Given the description of an element on the screen output the (x, y) to click on. 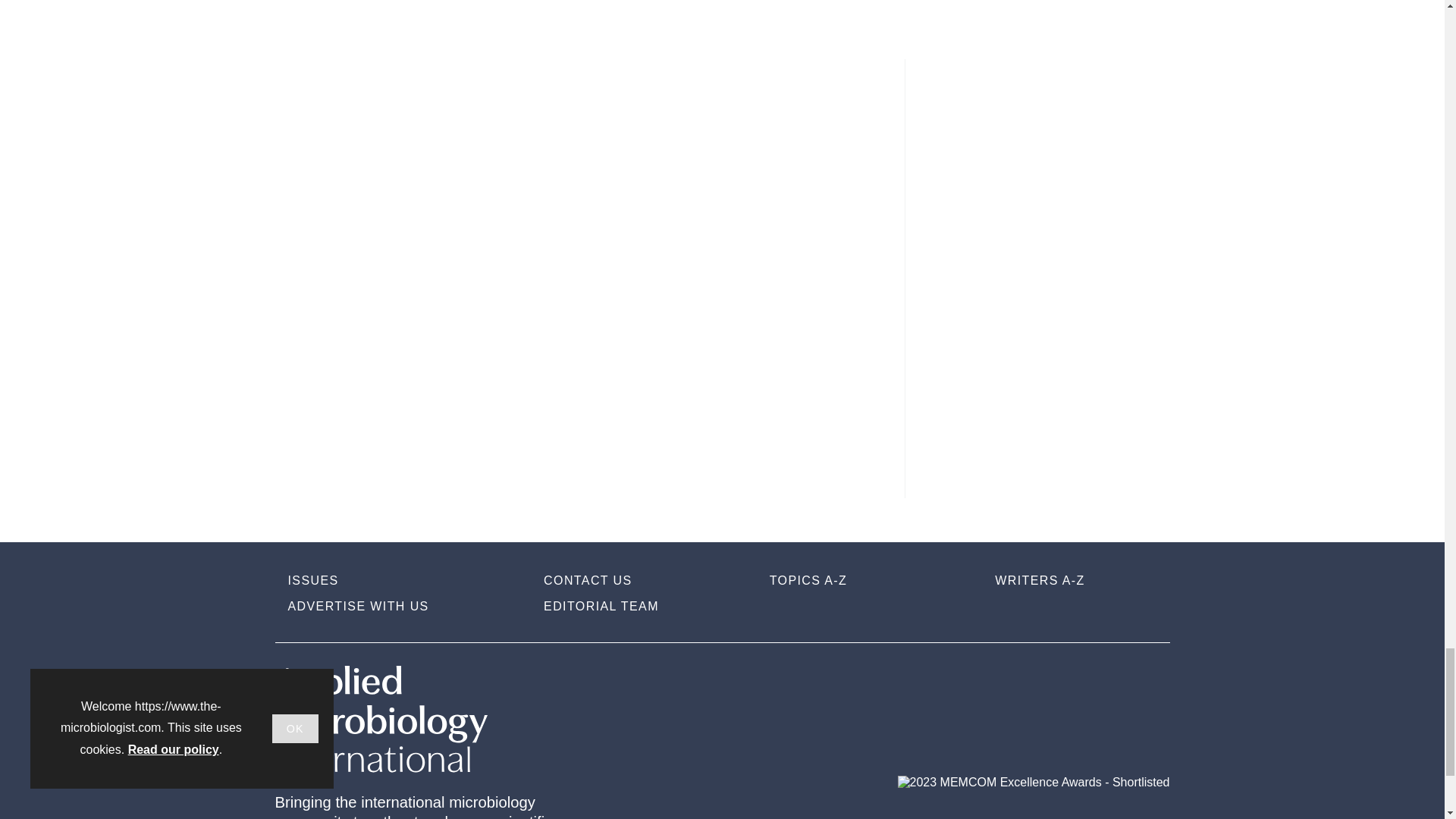
Connect with us on Facebook (1149, 682)
Connect with us on Instagram (1015, 682)
Connect with us on Twitter (1102, 682)
Connect with us on Linked in (1057, 682)
